Given the description of an element on the screen output the (x, y) to click on. 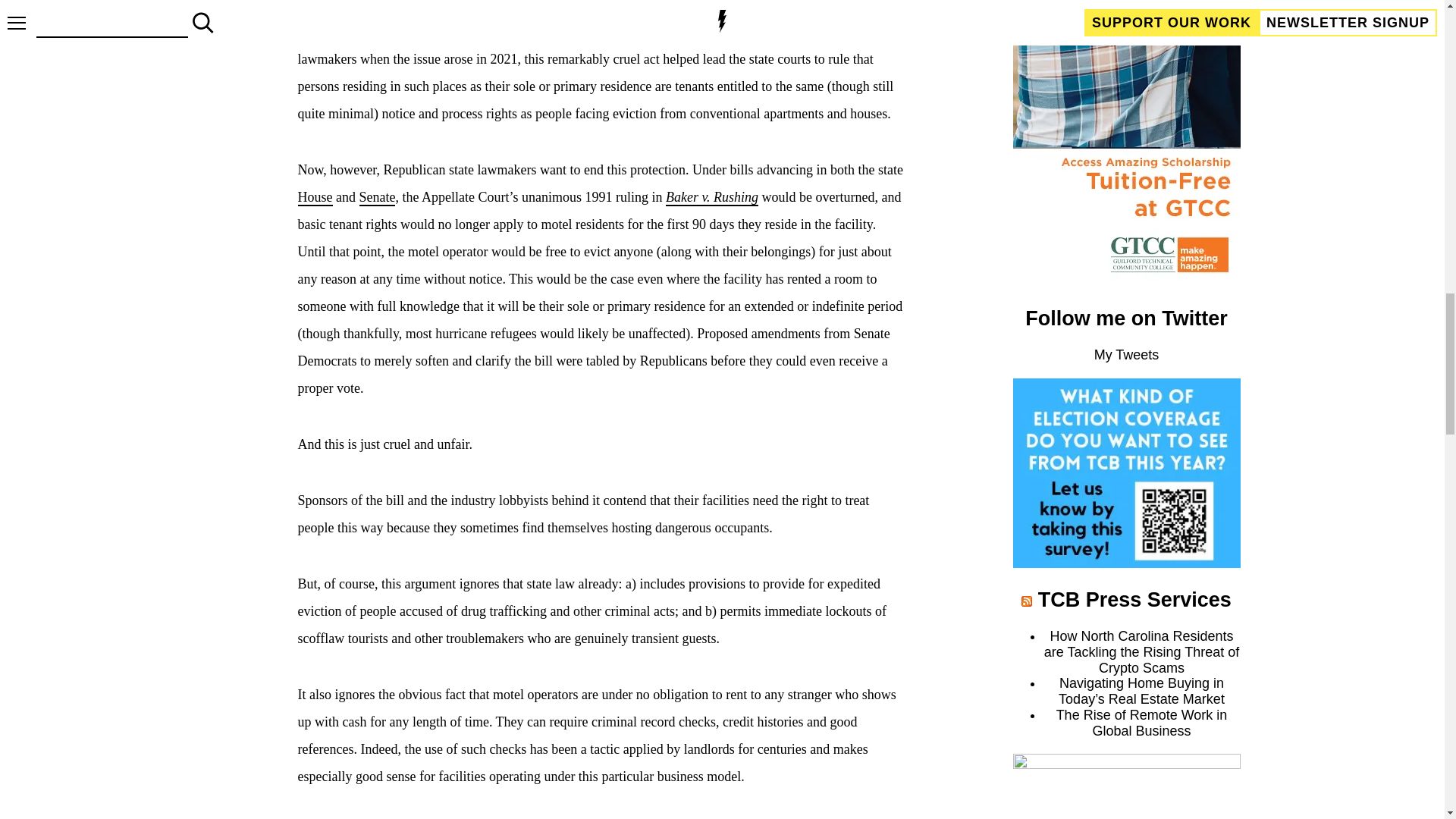
House (314, 197)
My Tweets (1126, 354)
the former Legal Aid lawyer-turned-present-day-pastor (465, 32)
Baker v. Rushing (711, 197)
Senate (377, 197)
